Given the description of an element on the screen output the (x, y) to click on. 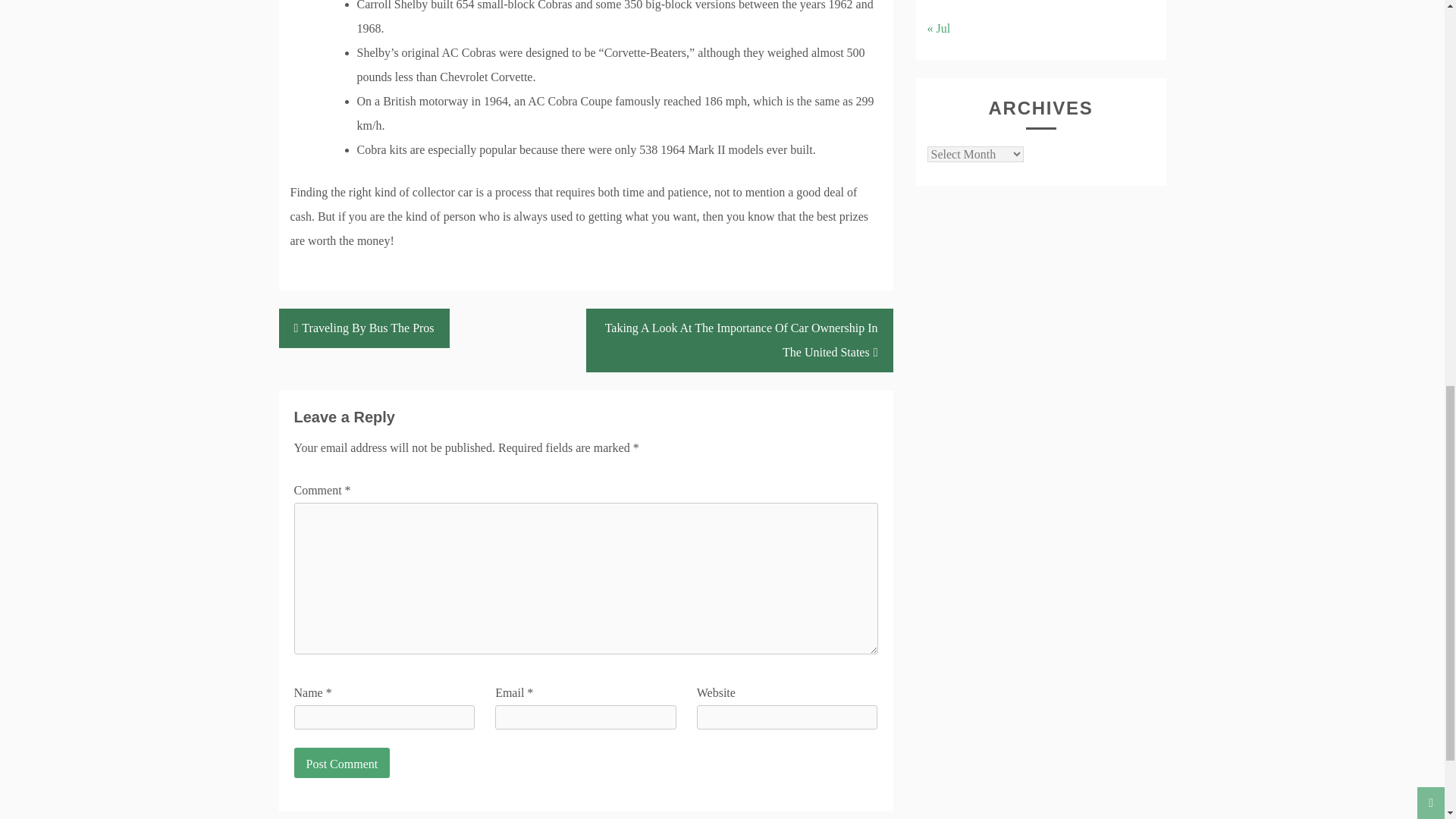
Post Comment (342, 762)
Post Comment (342, 762)
Traveling By Bus The Pros (364, 328)
